Given the description of an element on the screen output the (x, y) to click on. 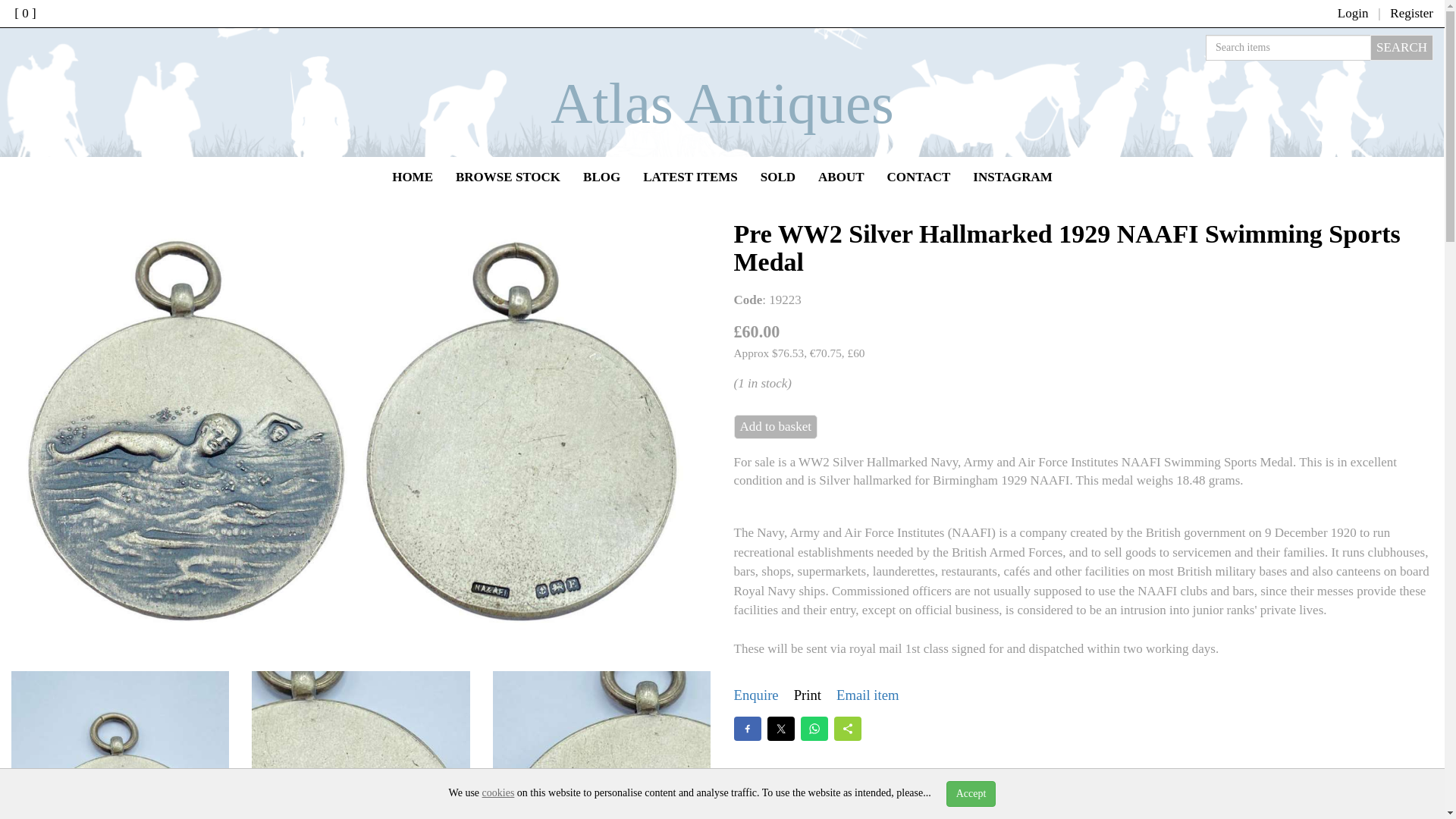
Register (1411, 12)
Atlas Antiques (721, 103)
HOME (412, 177)
SEARCH (1401, 47)
SOLD (777, 177)
Print (807, 695)
INSTAGRAM (1012, 177)
BROWSE STOCK (508, 177)
ABOUT (840, 177)
BLOG (601, 177)
Add to basket (774, 426)
CONTACT (919, 177)
LATEST ITEMS (690, 177)
